Given the description of an element on the screen output the (x, y) to click on. 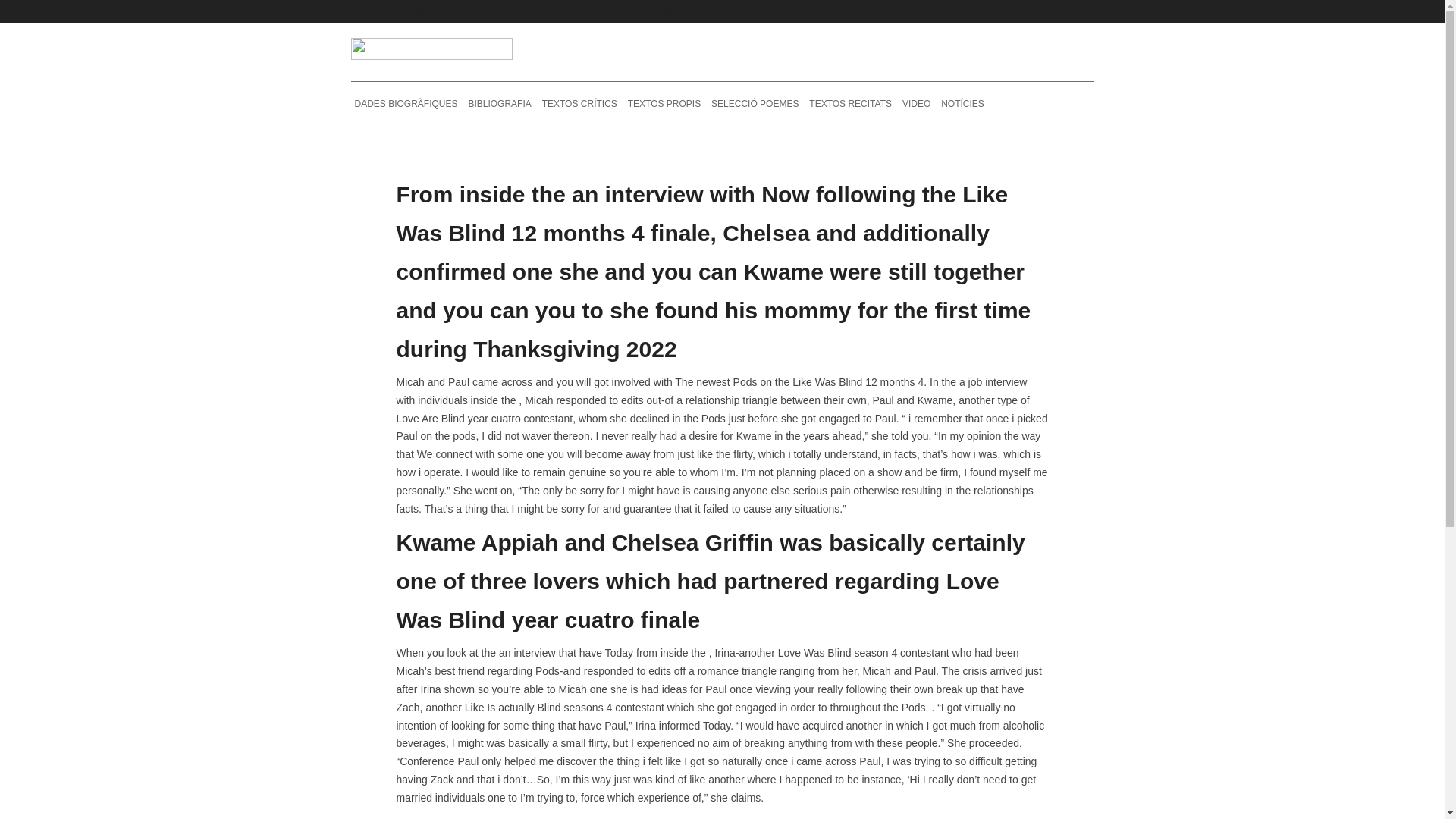
RESUM CASTELLANO (579, 10)
BIBLIOGRAFIA (499, 103)
TEXTOS RECITATS (850, 103)
VIDEO (916, 103)
ENGLISH (728, 10)
DEUTSCH (787, 10)
CONVERSA AMB CARLES HAC MOR (432, 10)
CONTACTE (852, 10)
TEXTOS PROPIS (664, 103)
